Given the description of an element on the screen output the (x, y) to click on. 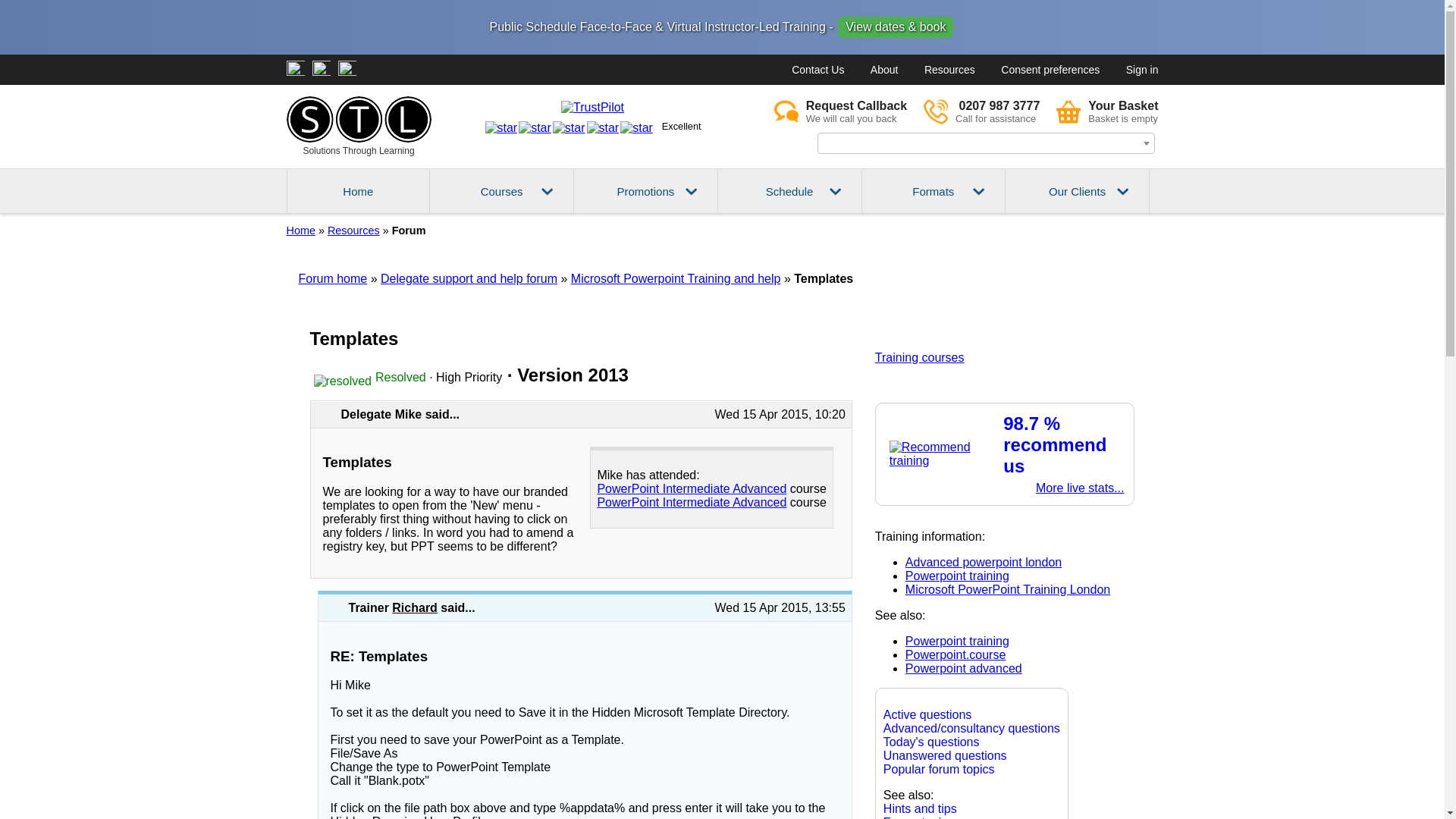
About (884, 69)
Consent preferences (1050, 69)
Sign in (1141, 69)
Resources (353, 230)
powerpoint.course (955, 654)
resolved (342, 381)
Microsoft Powerpoint Training and help (981, 110)
Delegate support and help forum (840, 110)
powerpoint training (675, 278)
powerpoint advanced (468, 278)
powerpoint training (957, 640)
advanced powerpoint london (963, 667)
Contact Us (957, 575)
